Given the description of an element on the screen output the (x, y) to click on. 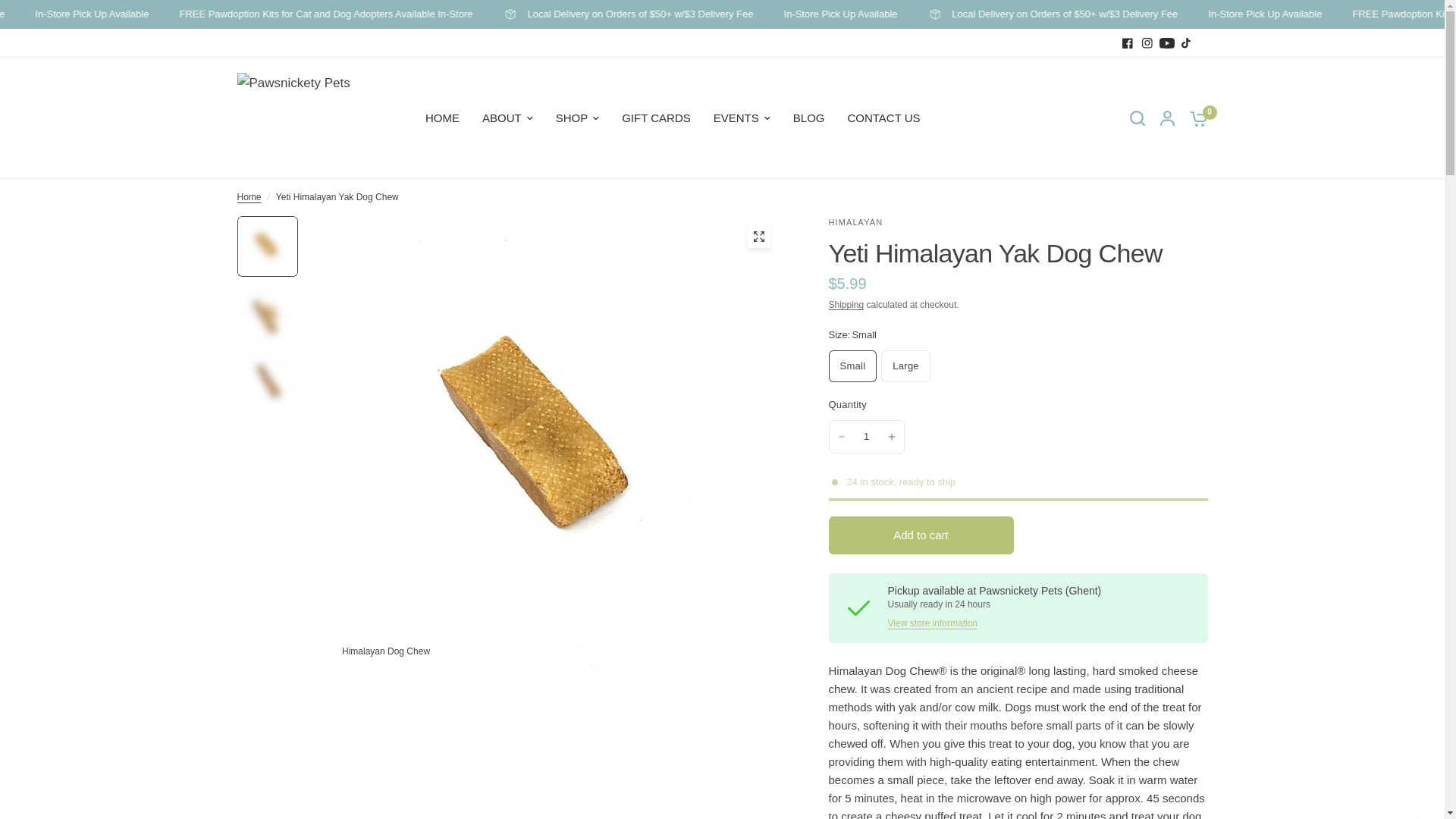
YouTube (1166, 43)
Instagram (1147, 43)
TikTok (1186, 43)
Facebook (1127, 43)
